Given the description of an element on the screen output the (x, y) to click on. 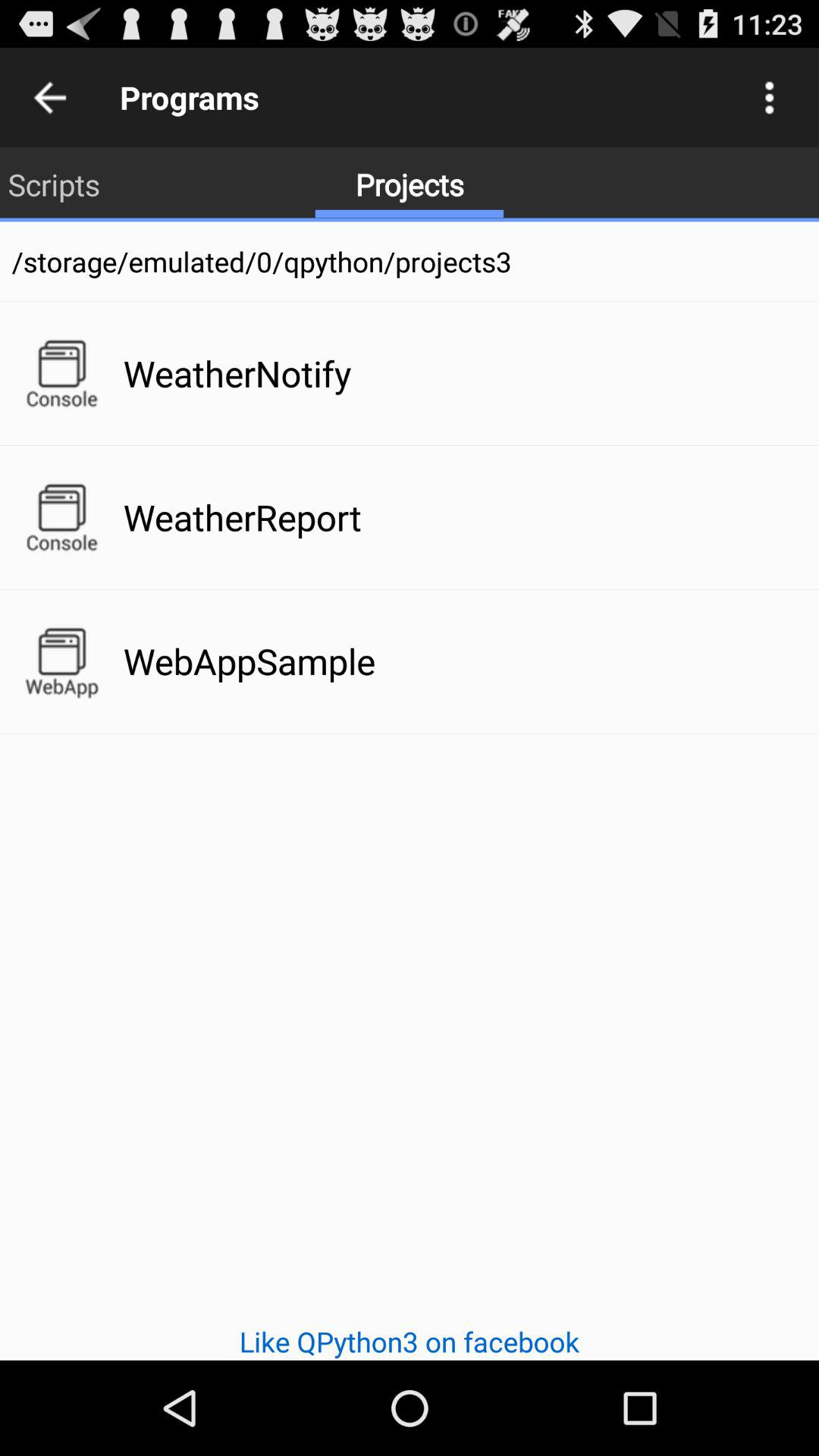
see options (769, 97)
